Given the description of an element on the screen output the (x, y) to click on. 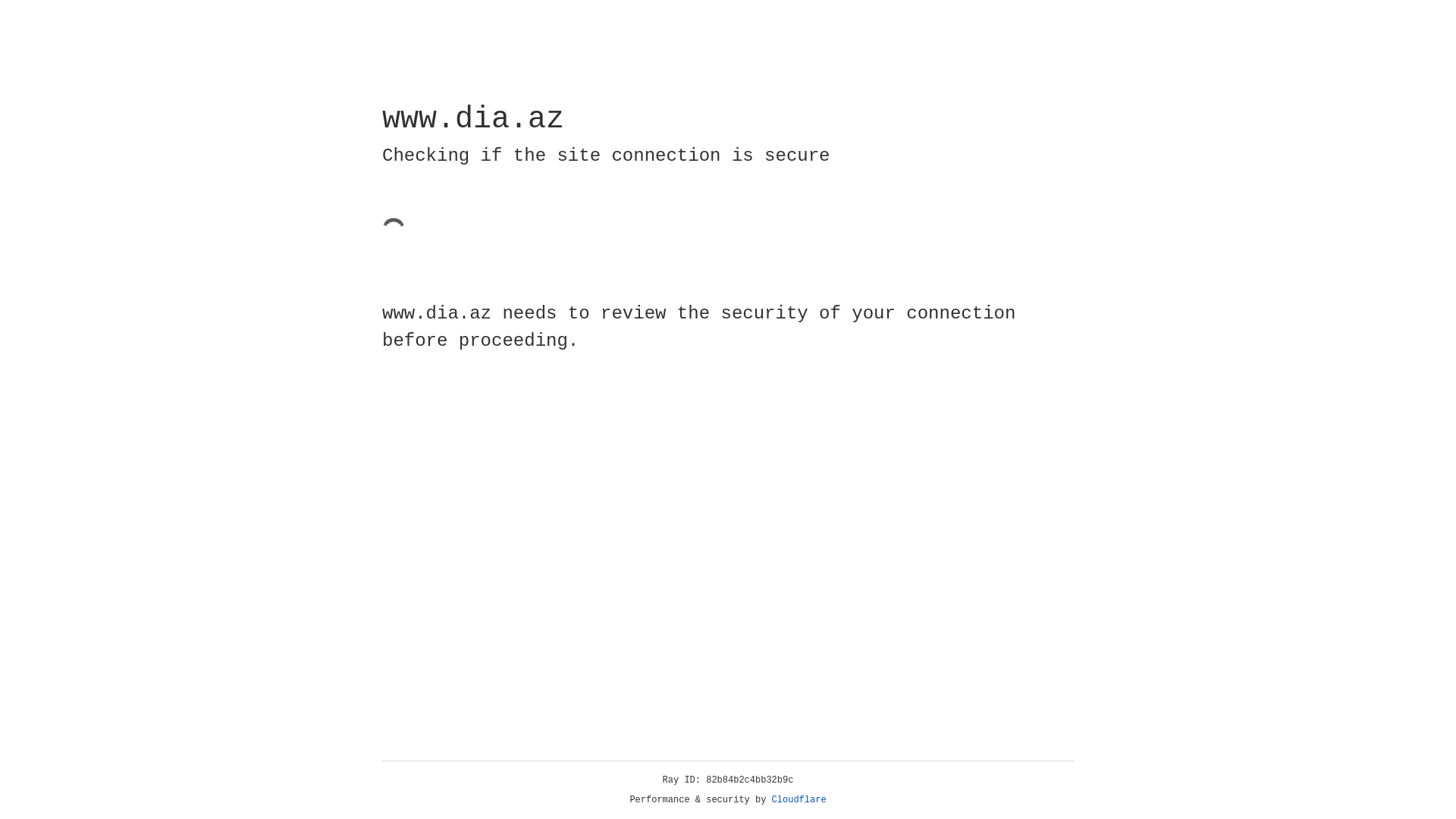
Cloudflare Element type: text (798, 799)
